Given the description of an element on the screen output the (x, y) to click on. 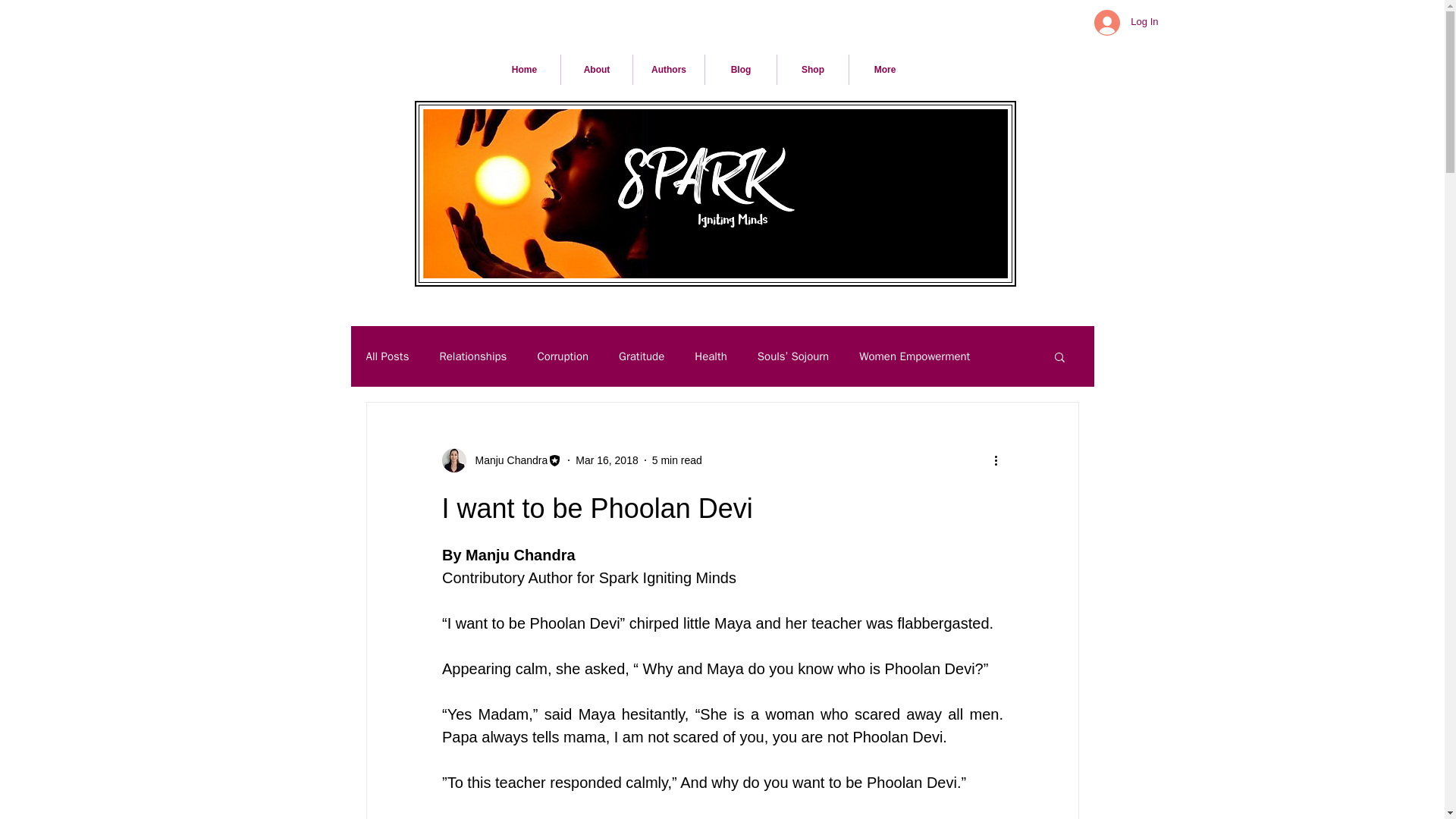
Women Empowerment (914, 355)
Blog (740, 69)
Mar 16, 2018 (607, 459)
Authors (668, 69)
Relationships (472, 355)
All Posts (387, 355)
Manju Chandra (501, 459)
Log In (1126, 21)
Health (710, 355)
Home (523, 69)
Gratitude (640, 355)
5 min read (676, 459)
Shop (812, 69)
About (595, 69)
Manju Chandra (506, 459)
